Given the description of an element on the screen output the (x, y) to click on. 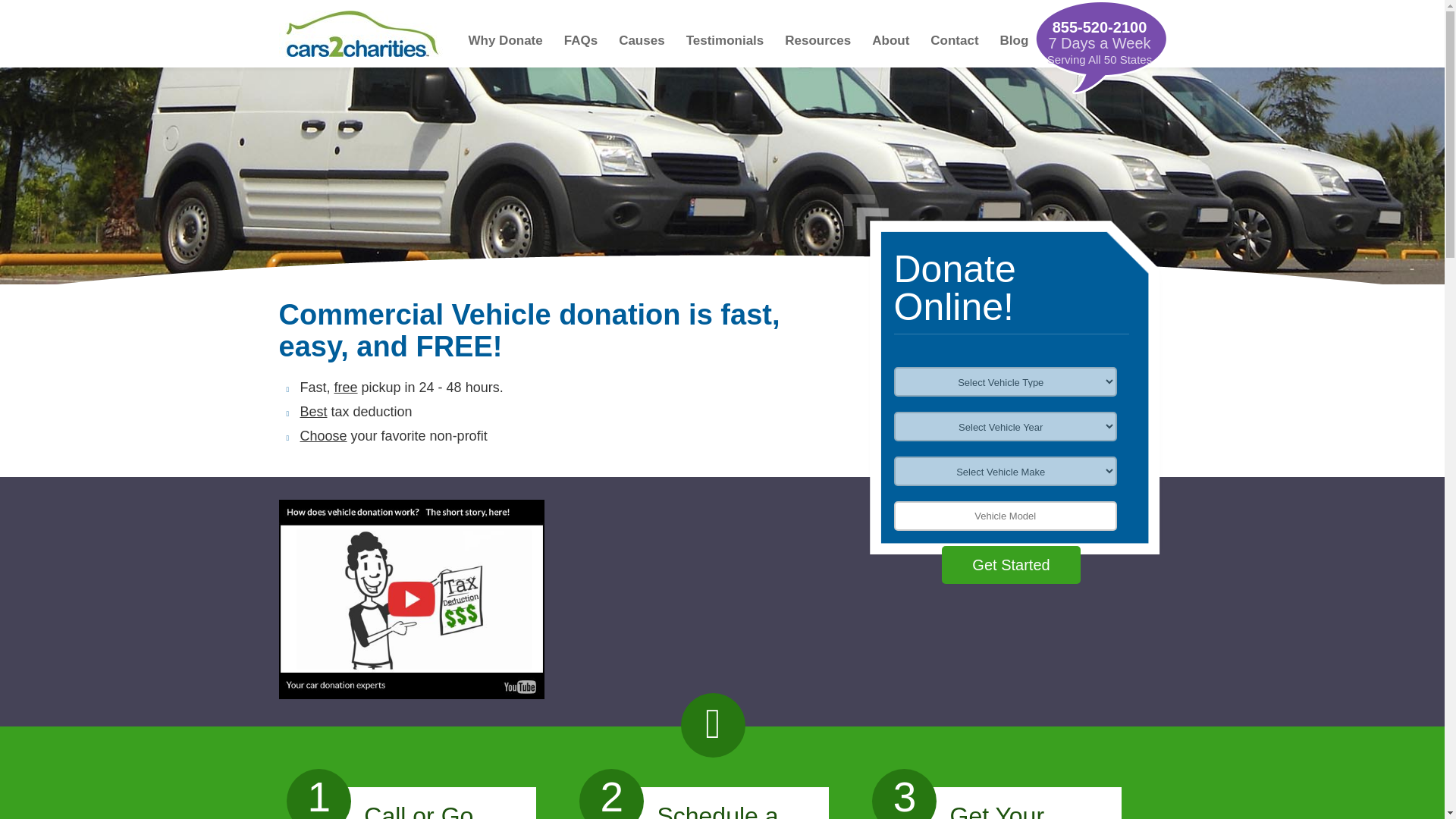
Contact (954, 45)
2 (611, 794)
Get Started (1011, 564)
Blog (1014, 45)
1 (318, 794)
Get Started (1011, 564)
Testimonials (724, 45)
Resources (817, 45)
Why Donate (505, 45)
FAQs (580, 45)
3 (904, 794)
About (890, 45)
Causes (640, 45)
855-520-2100 (1099, 27)
